Given the description of an element on the screen output the (x, y) to click on. 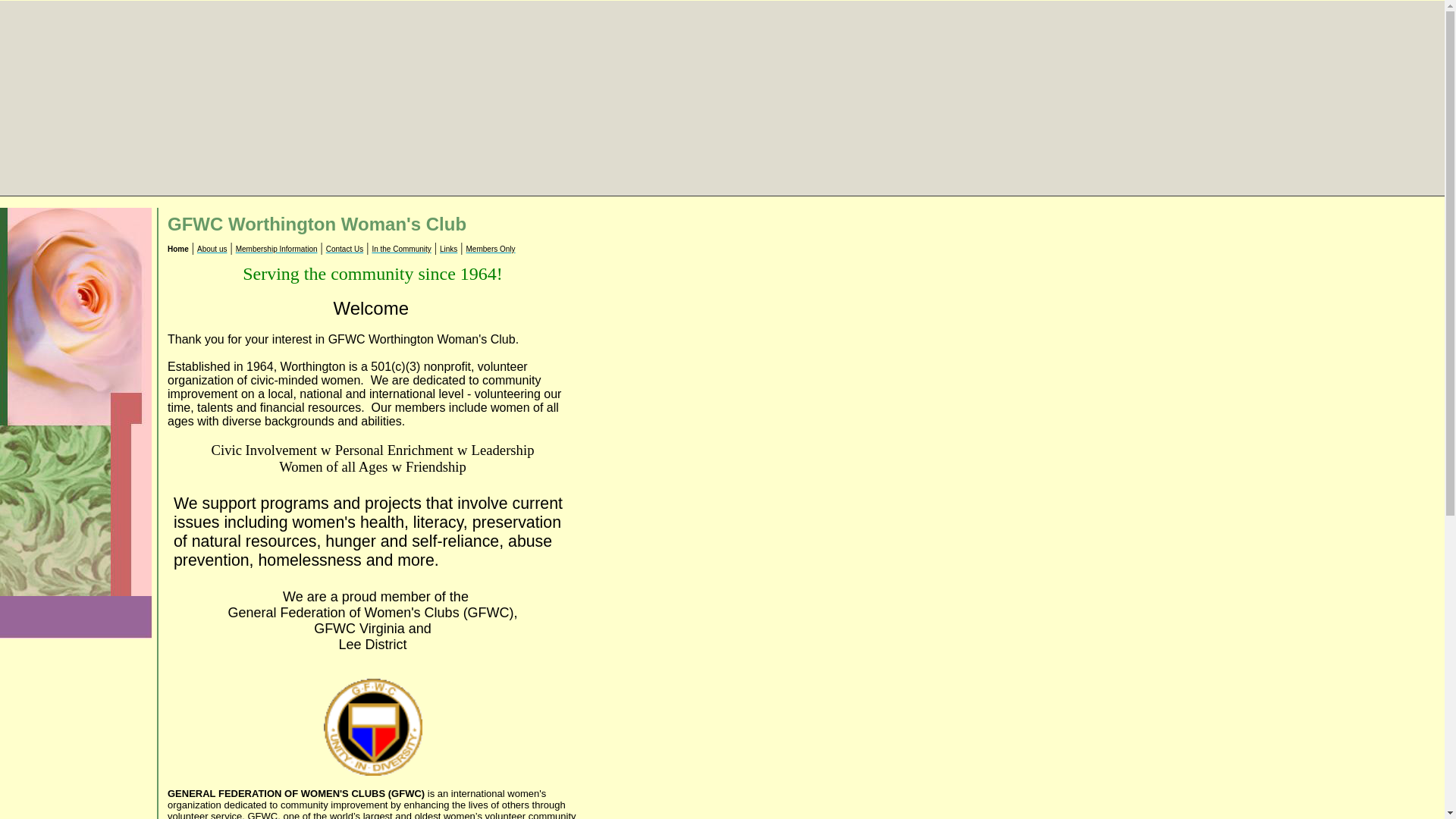
Home (178, 248)
Contact Us (344, 248)
About us (211, 248)
In the Community (400, 248)
Membership Information (276, 248)
Members Only (490, 248)
Links (448, 248)
